Given the description of an element on the screen output the (x, y) to click on. 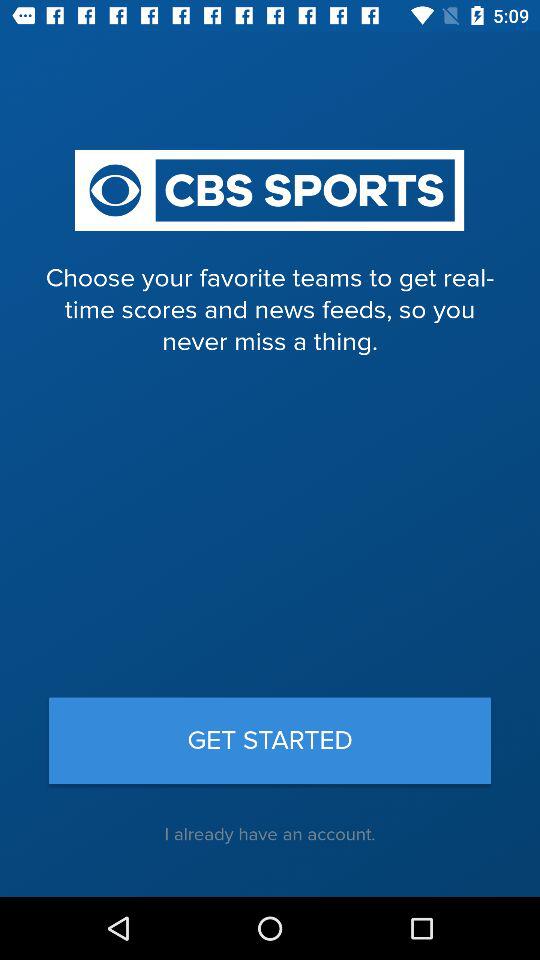
swipe until get started (269, 740)
